Given the description of an element on the screen output the (x, y) to click on. 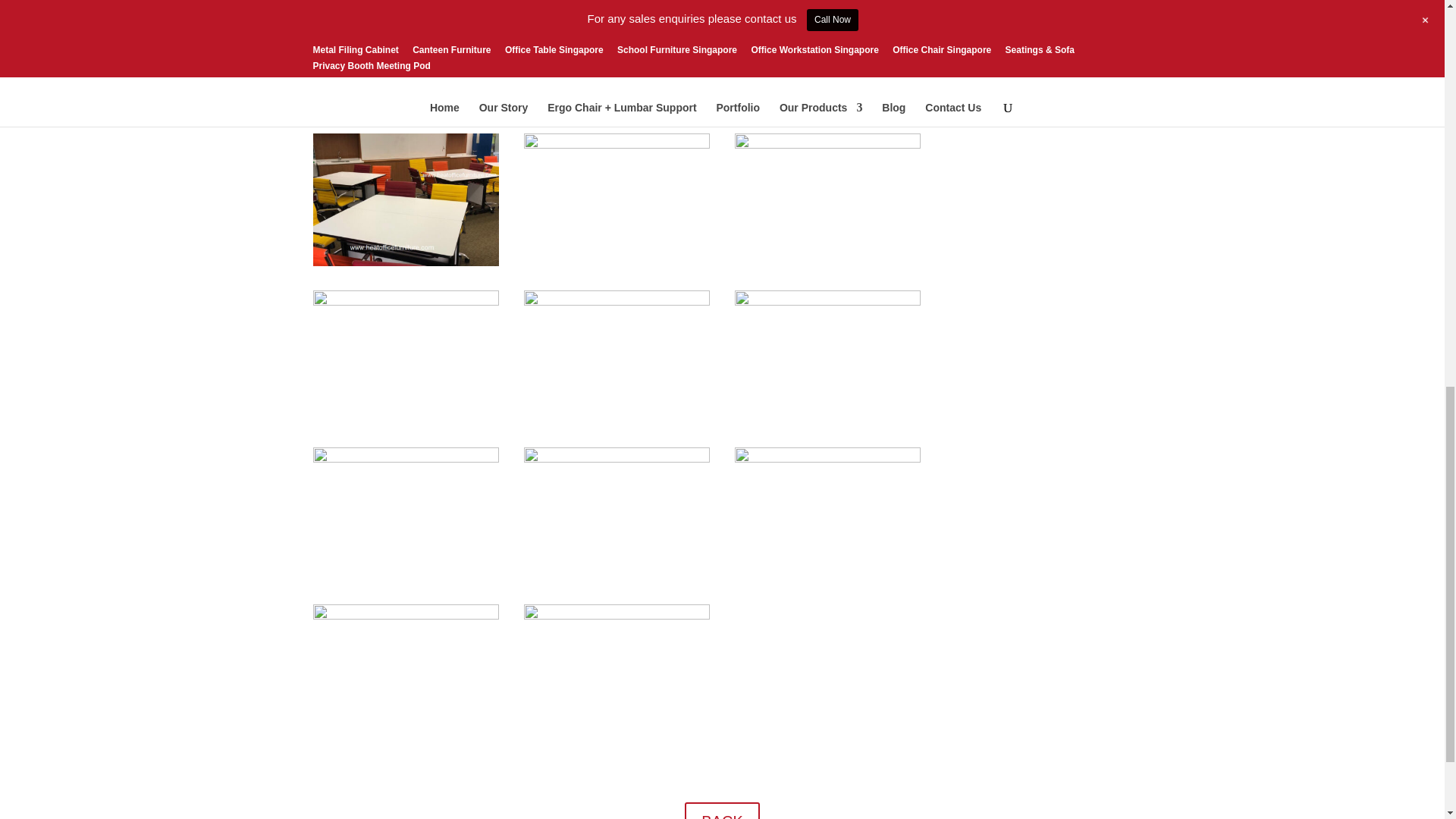
sch-4 (406, 262)
hosp-10 (617, 615)
hosp-1 (406, 301)
hosp-5 (406, 458)
hosp-3 (617, 301)
BACK (721, 810)
hosp-2 (828, 144)
hosp-7 (617, 458)
hosp-4 (828, 301)
hosp-6 (617, 144)
hosp-8 (828, 458)
hosp-9 (406, 615)
